Given the description of an element on the screen output the (x, y) to click on. 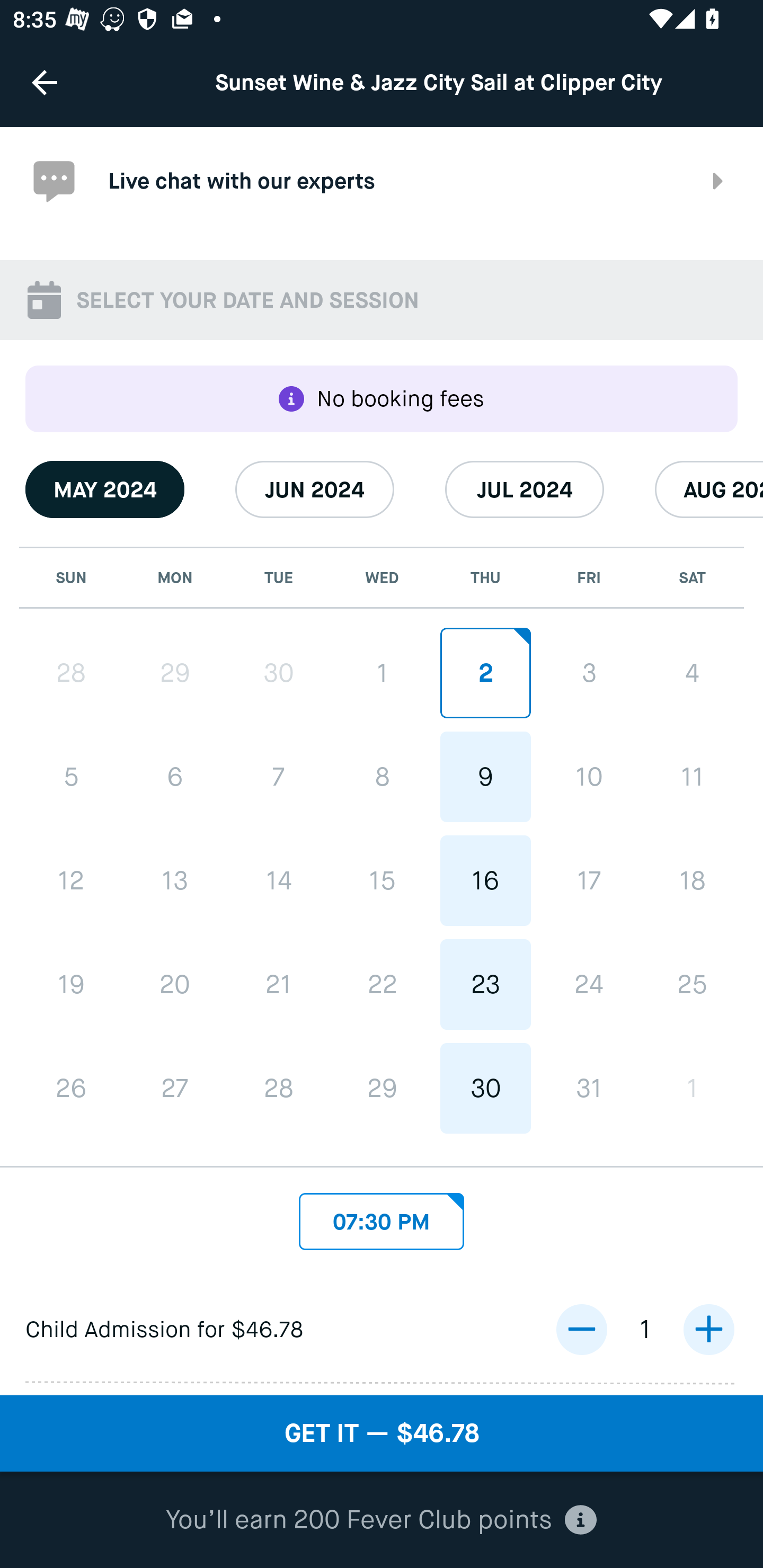
Navigate up (44, 82)
Live chat with our experts (381, 181)
MAY 2024 (104, 488)
JUN 2024 (314, 488)
JUL 2024 (524, 488)
AUG 2024 (708, 488)
28 (70, 672)
29 (174, 672)
30 (278, 672)
1 (382, 672)
2 (485, 672)
3 (588, 672)
4 (692, 672)
5 (70, 777)
6 (174, 777)
7 (278, 777)
8 (382, 776)
9 (485, 776)
10 (588, 776)
11 (692, 776)
12 (70, 880)
13 (174, 880)
14 (278, 880)
15 (382, 880)
16 (485, 880)
17 (588, 880)
18 (692, 880)
19 (70, 984)
20 (174, 984)
21 (278, 984)
22 (382, 984)
23 (485, 984)
24 (588, 984)
25 (692, 984)
26 (70, 1087)
27 (174, 1087)
28 (278, 1087)
29 (382, 1087)
30 (485, 1087)
31 (588, 1087)
1 (692, 1087)
07:30 PM (381, 1216)
decrease (581, 1329)
increase (708, 1329)
GET IT — $46.78 (381, 1433)
You’ll earn 200 Fever Club points (380, 1519)
